Given the description of an element on the screen output the (x, y) to click on. 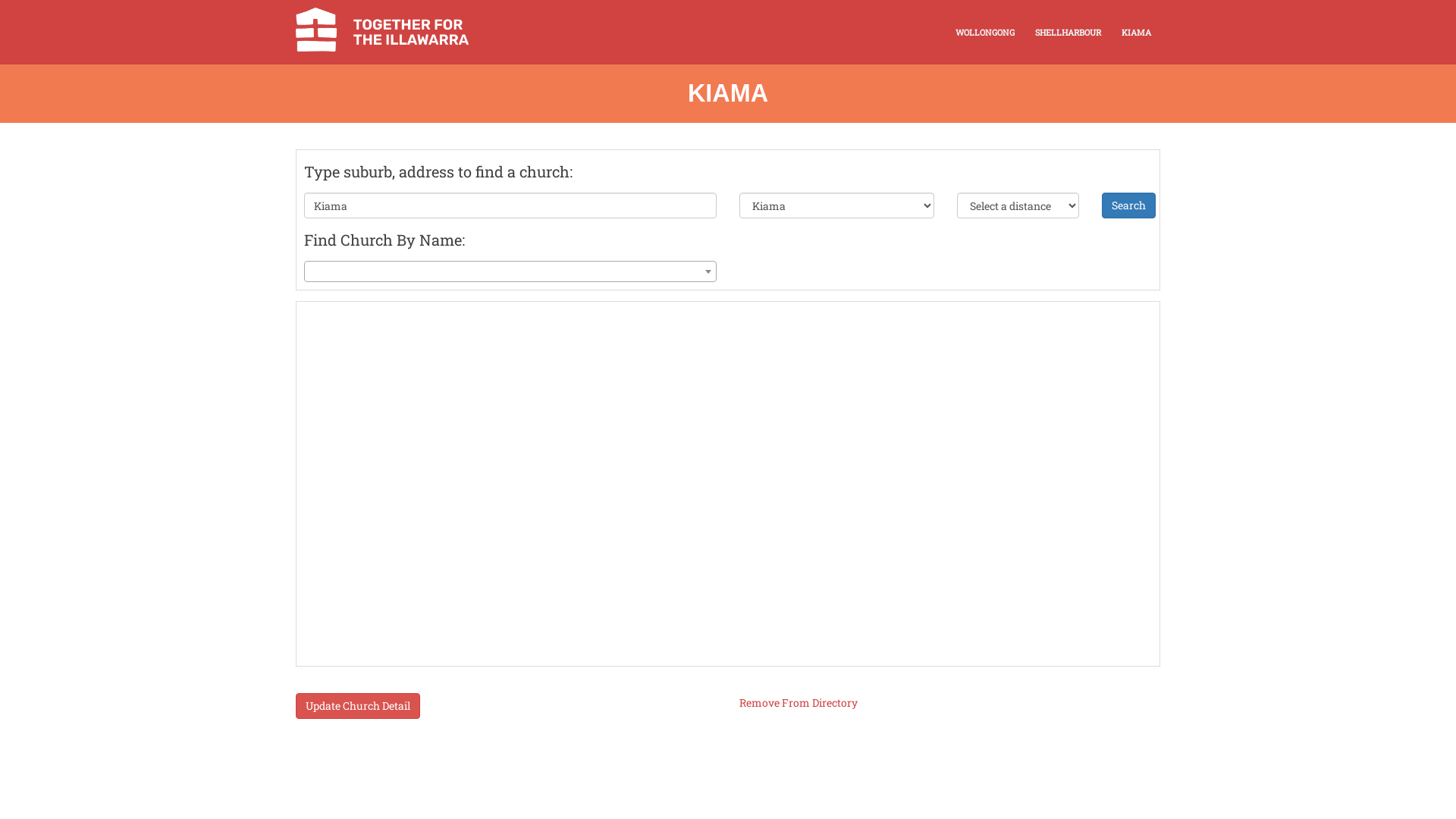
WOLLONGONG Element type: text (984, 32)
Update Church Detail Element type: text (357, 705)
KIAMA Element type: text (1136, 32)
Remove From Directory Element type: text (798, 702)
Update Church Detail Element type: text (357, 704)
SHELLHARBOUR Element type: text (1068, 32)
Search Element type: text (1128, 205)
